Given the description of an element on the screen output the (x, y) to click on. 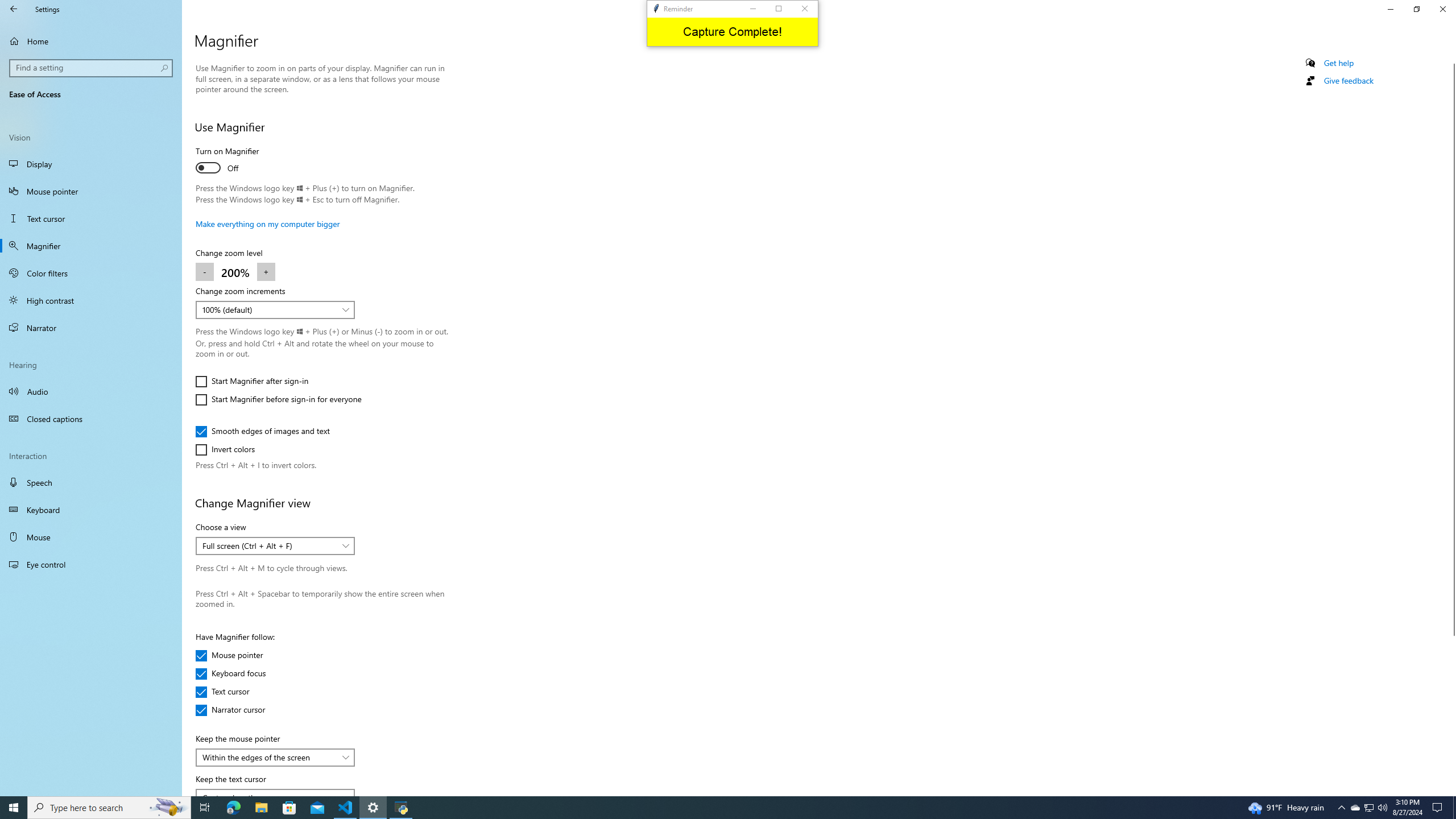
Give feedback (1348, 138)
Mouse pointer (229, 656)
Turn on Magnifier (237, 160)
Speech (91, 482)
Settings - 1 running window (373, 807)
Keyboard (91, 509)
Mouse (91, 536)
Get help (1338, 120)
Magnifier (91, 245)
